Given the description of an element on the screen output the (x, y) to click on. 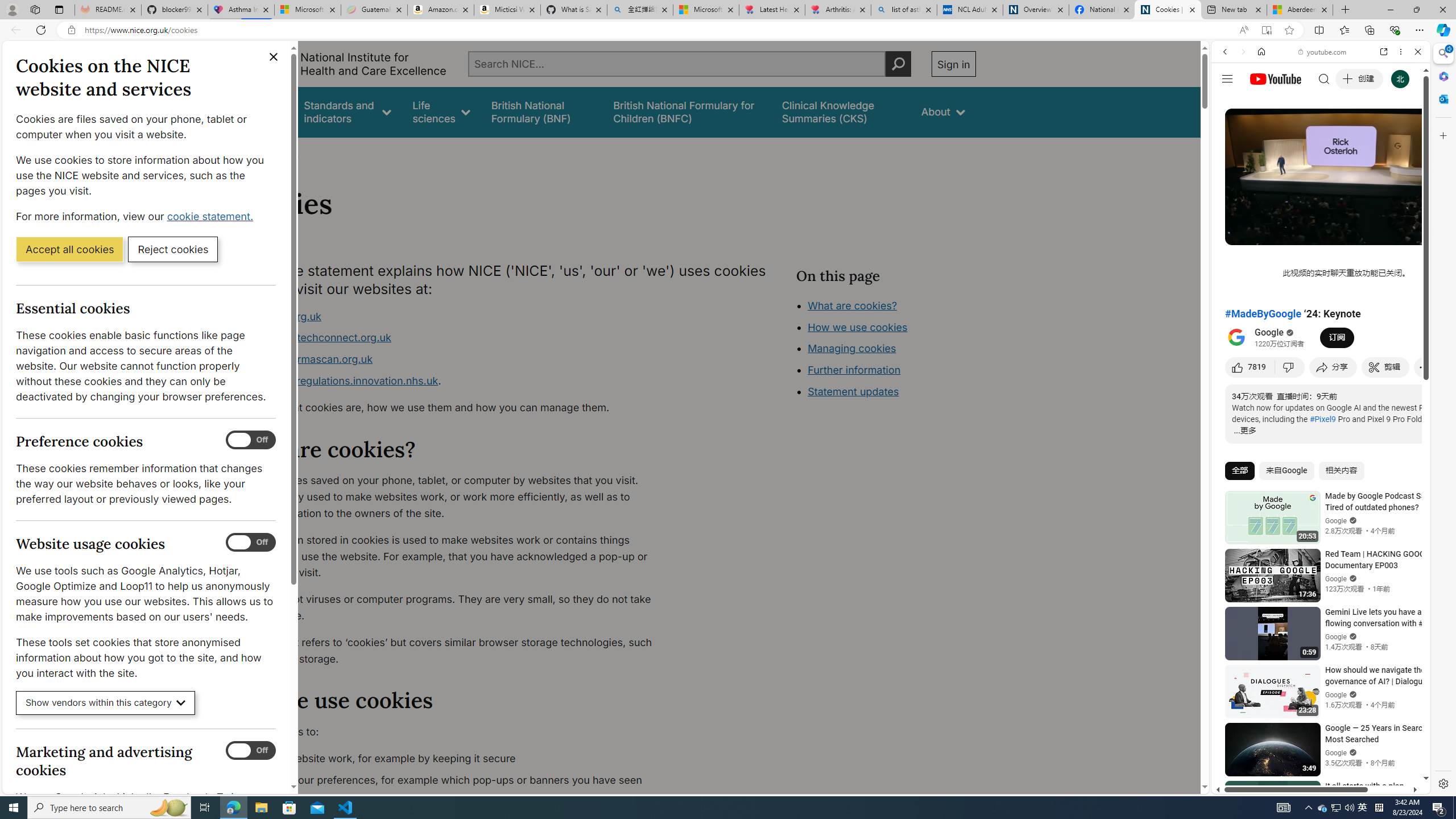
Statement updates (853, 391)
Guidance (260, 111)
#Pixel9 (1322, 419)
Class: ytp-subtitles-button-icon (1368, 234)
Close cookie banner (273, 56)
Preference cookies (250, 439)
Search Filter, VIDEOS (1300, 129)
How we use cookies (896, 389)
Home> (246, 152)
What are cookies? (852, 305)
you (1315, 755)
